Given the description of an element on the screen output the (x, y) to click on. 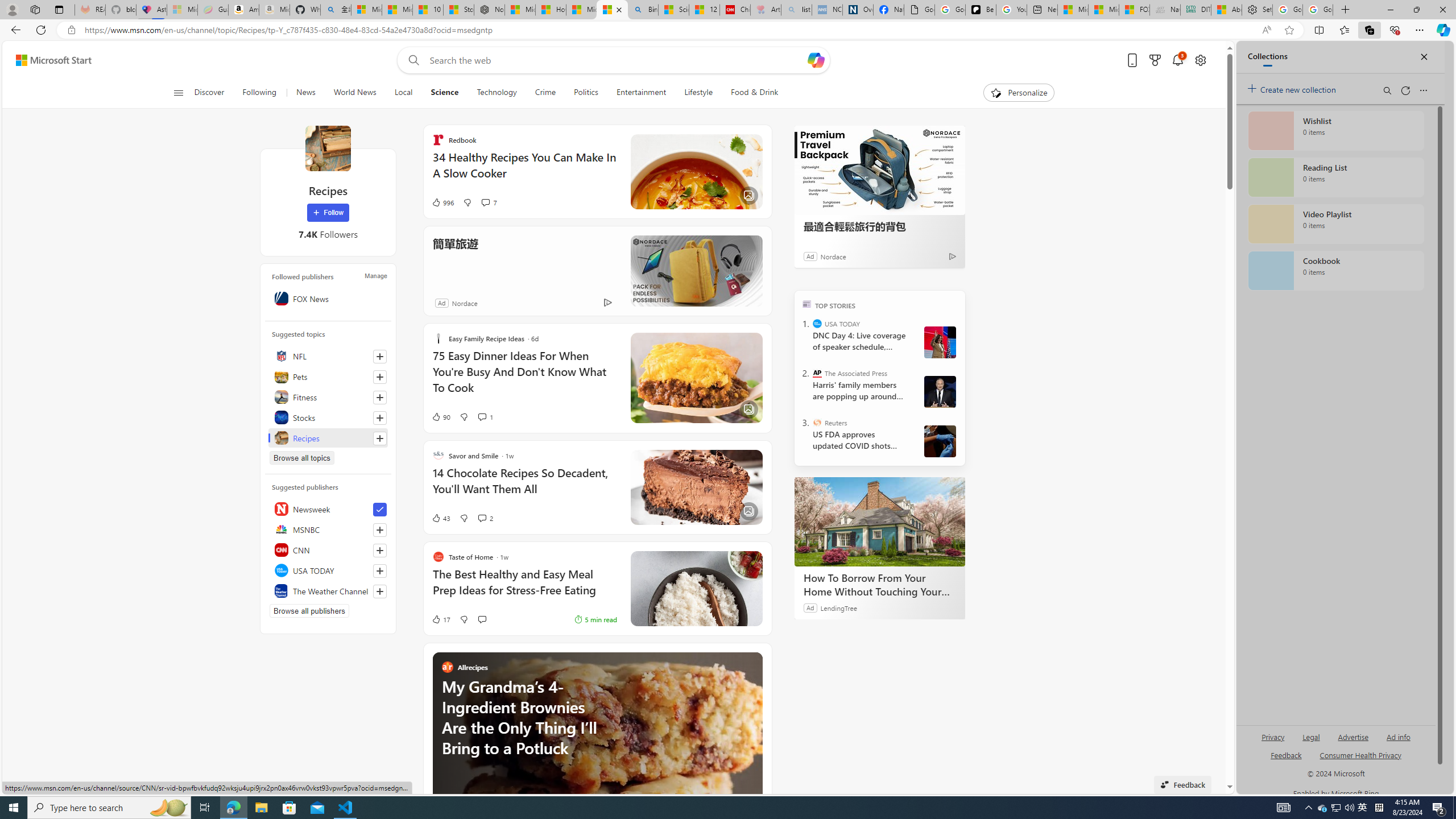
View comments 2 Comment (485, 517)
996 Like (442, 202)
